Given the description of an element on the screen output the (x, y) to click on. 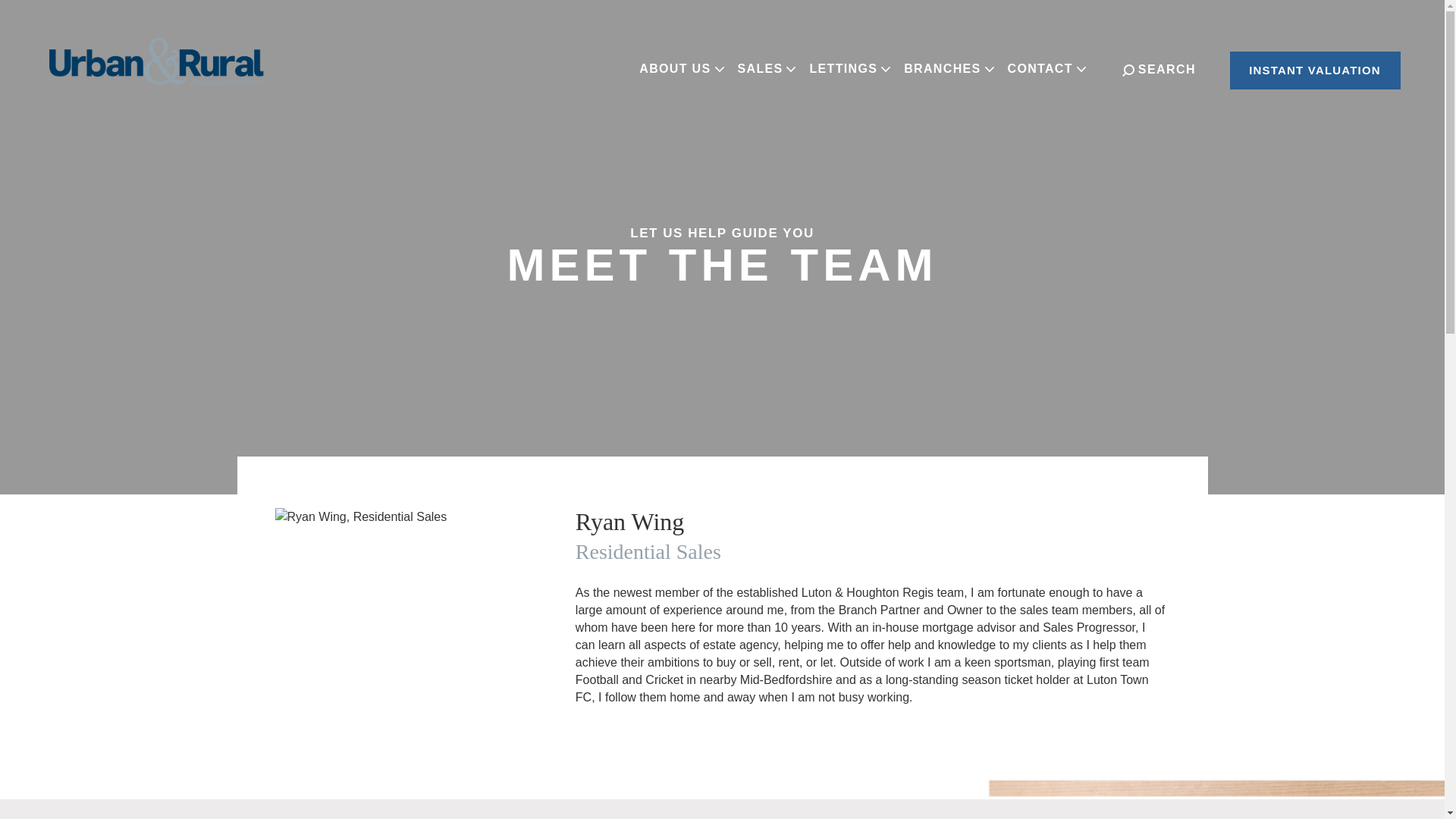
ABOUT US (680, 68)
SALES (766, 68)
LETTINGS (849, 68)
BRANCHES (948, 68)
